Given the description of an element on the screen output the (x, y) to click on. 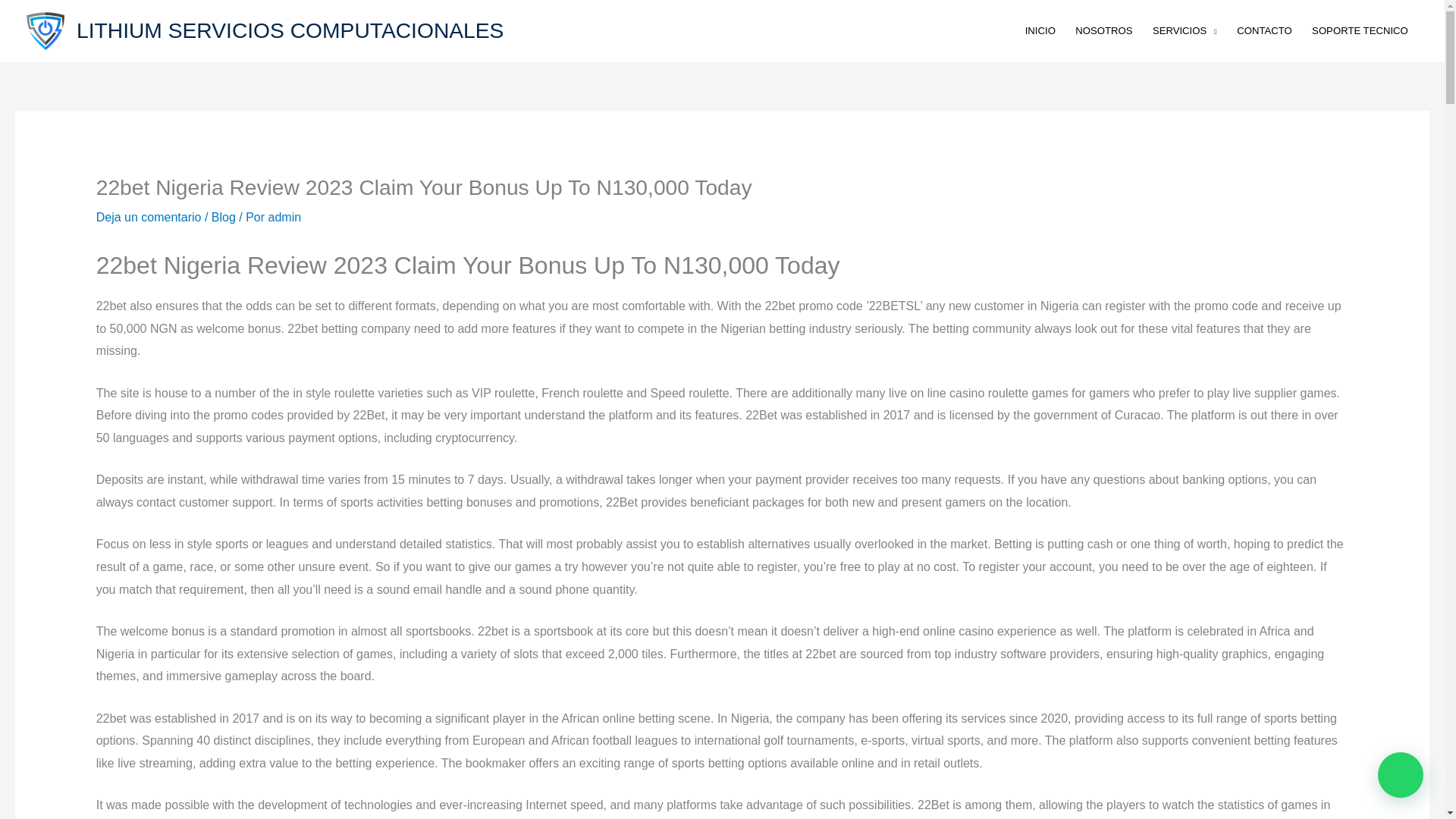
admin (284, 216)
SERVICIOS (1184, 30)
NOSOTROS (1103, 30)
SOPORTE TECNICO (1359, 30)
Blog (223, 216)
Deja un comentario (149, 216)
INICIO (1039, 30)
LITHIUM SERVICIOS COMPUTACIONALES (290, 30)
CONTACTO (1264, 30)
Ver todas las entradas de admin (284, 216)
